Given the description of an element on the screen output the (x, y) to click on. 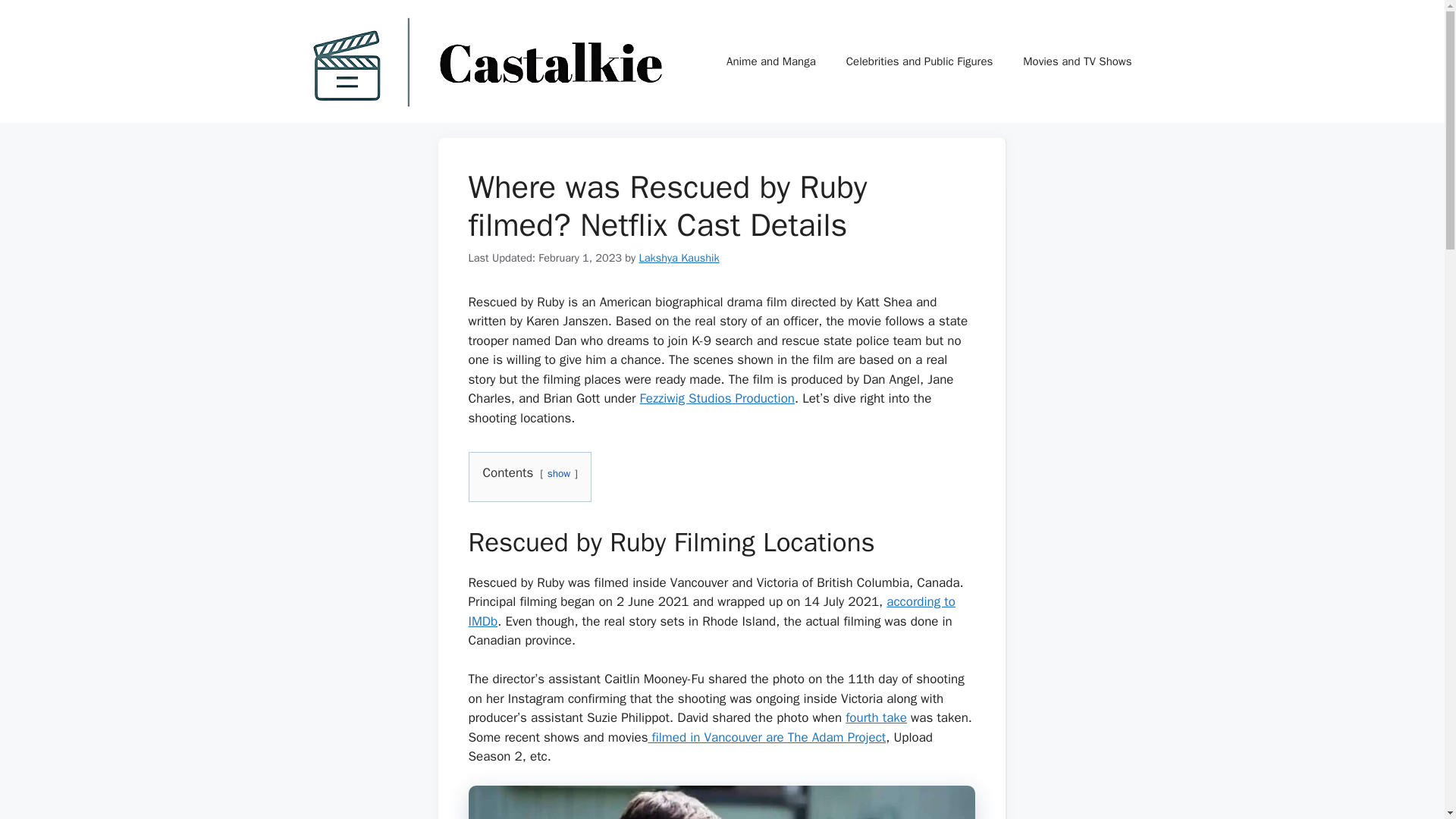
Anime and Manga (771, 61)
Celebrities and Public Figures (920, 61)
filmed in Vancouver are The Adam Project (766, 737)
Movies and TV Shows (1077, 61)
fourth take (876, 717)
show (558, 472)
according to IMDb (711, 611)
Fezziwig Studios Production (717, 398)
View all posts by Lakshya Kaushik (679, 257)
Lakshya Kaushik (679, 257)
Where was Rescued by Ruby filmed? Netflix Cast Details (721, 802)
